Given the description of an element on the screen output the (x, y) to click on. 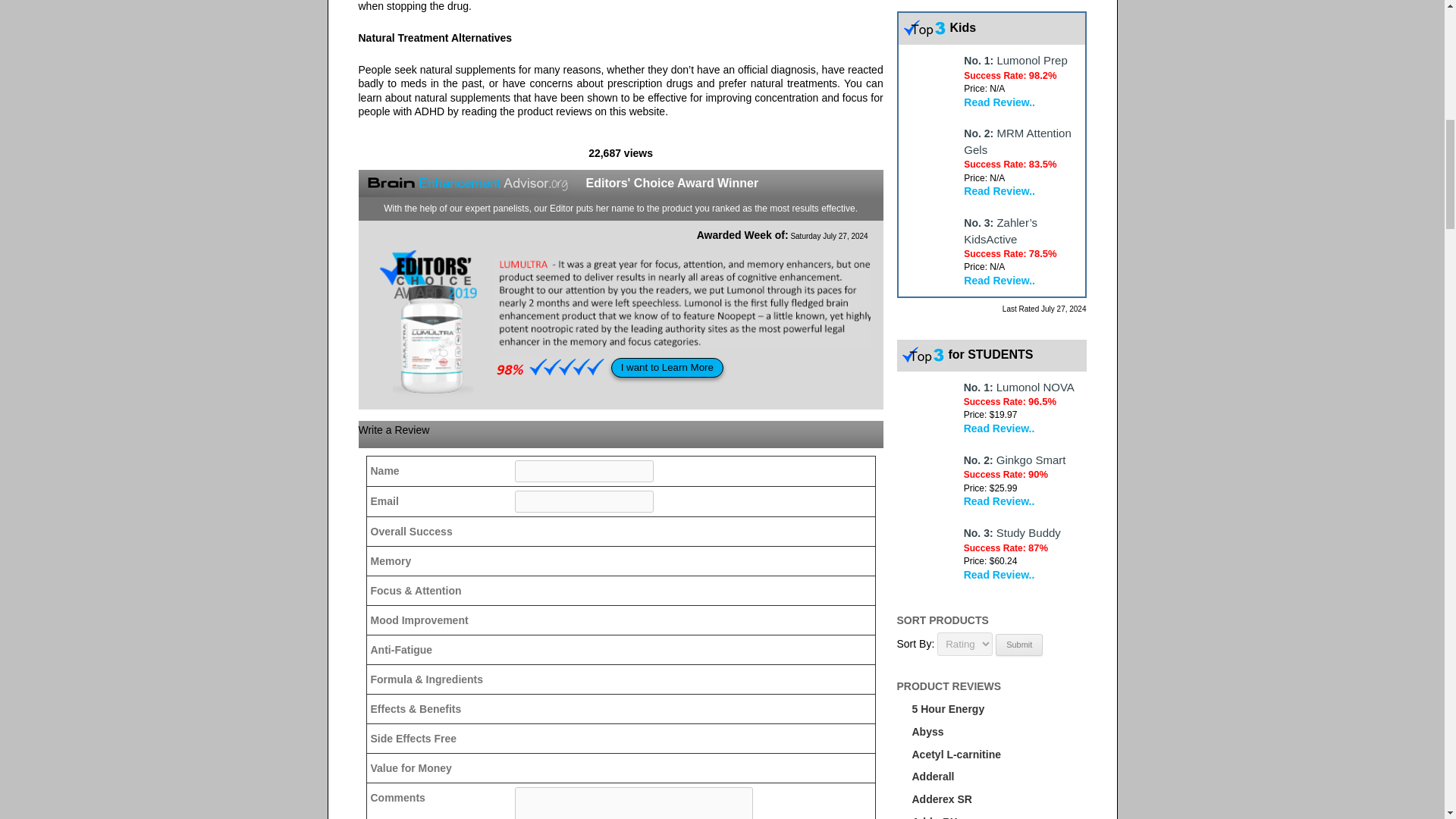
 Submit  (1018, 644)
